Given the description of an element on the screen output the (x, y) to click on. 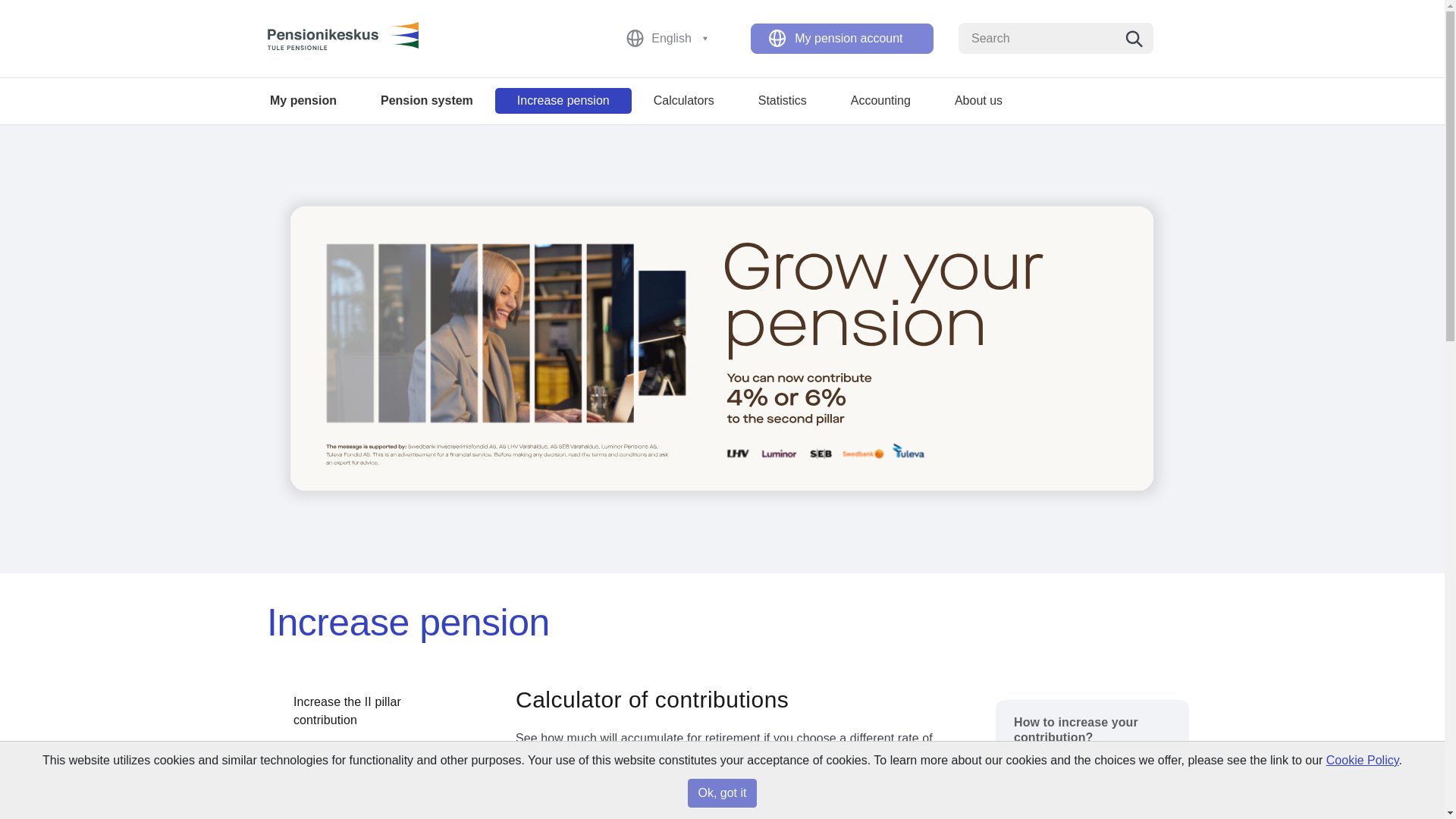
My pension account (848, 38)
About us (979, 100)
Increase pension (563, 100)
Statistics (782, 100)
My pension account (842, 38)
Pension system (426, 100)
Calculators (683, 100)
English (678, 38)
25 (703, 809)
English (671, 38)
My pension (302, 100)
Accounting (880, 100)
